Given the description of an element on the screen output the (x, y) to click on. 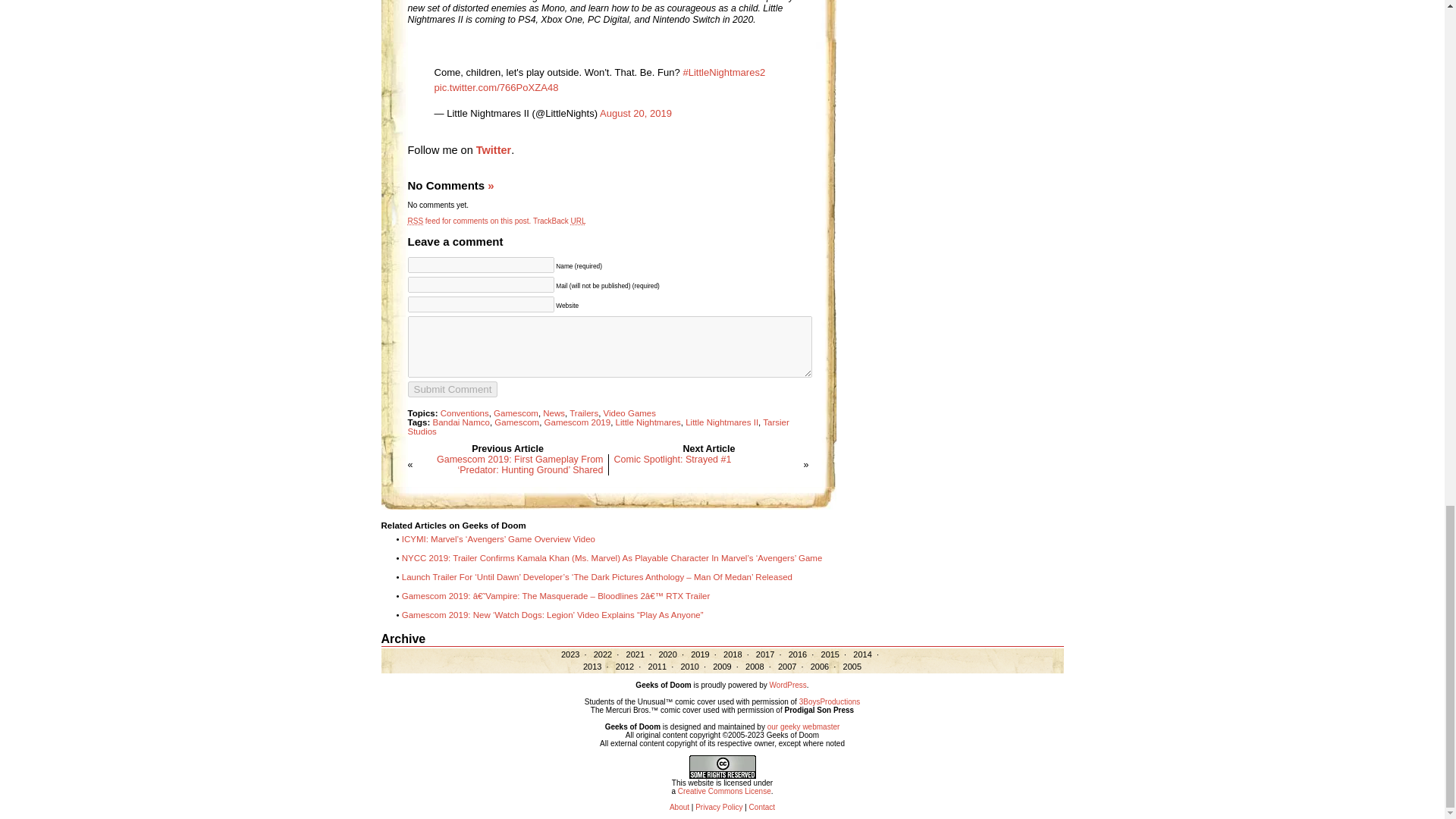
Trailers (583, 412)
Twitter (493, 150)
Submit Comment (452, 389)
Gamescom (515, 412)
Universal Resource Locator (578, 221)
Video Games (630, 412)
Little Nightmares (648, 421)
Gamescom (516, 421)
RSS feed for comments on this post. (469, 221)
Really Simple Syndication (415, 221)
